Given the description of an element on the screen output the (x, y) to click on. 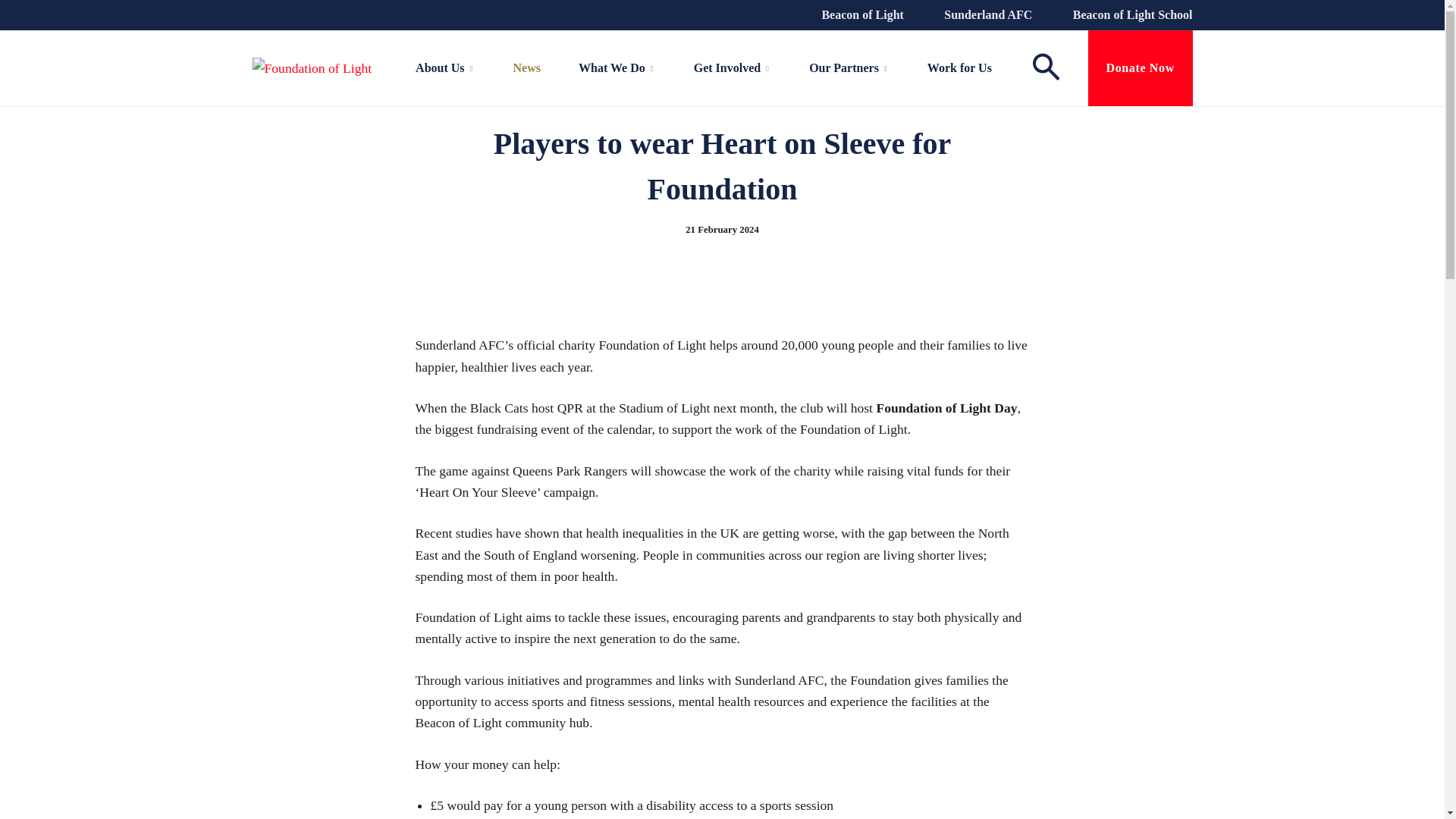
About Us (444, 68)
Get Involved (732, 68)
Beacon of Light School (1131, 15)
www.foundationoflight.co.uk (311, 68)
Beacon of Light (860, 15)
Sunderland AFC (986, 15)
Small Change Big Difference (1139, 68)
What We Do (617, 68)
